Given the description of an element on the screen output the (x, y) to click on. 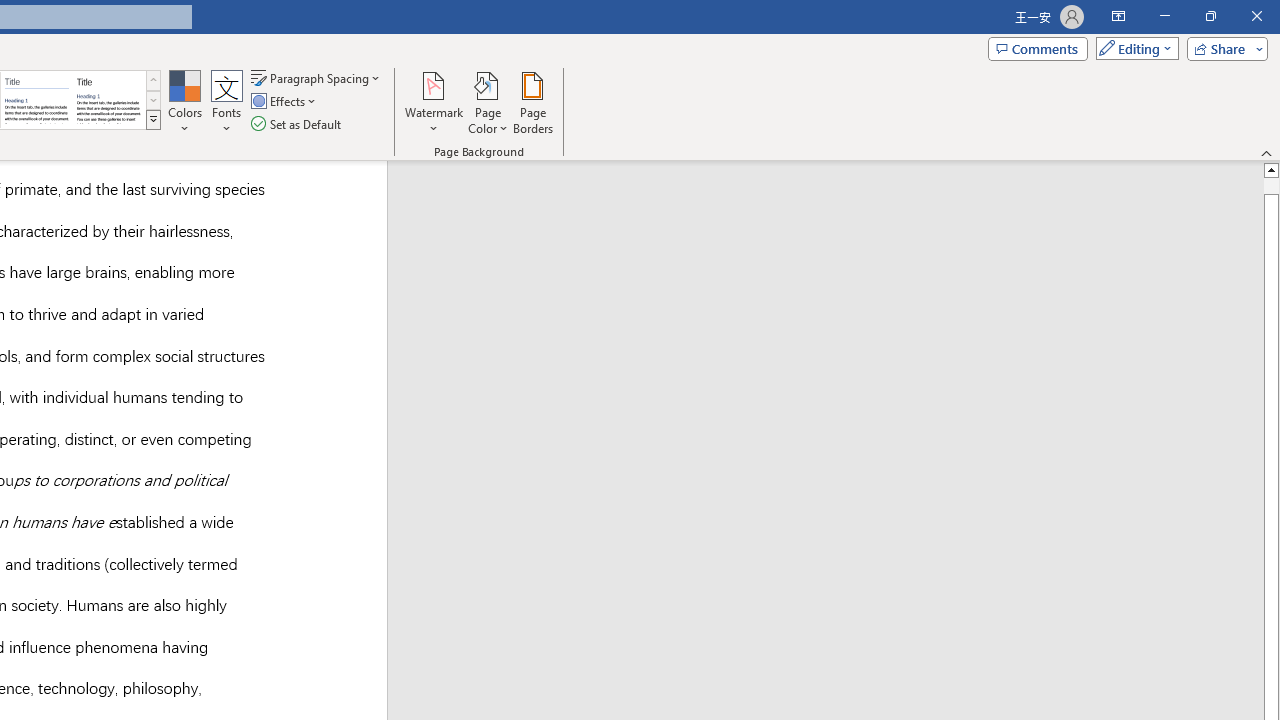
Page Borders... (532, 102)
Word 2010 (36, 100)
Colors (184, 102)
Watermark (434, 102)
Page Color (487, 102)
Word 2013 (108, 100)
Line up (1271, 169)
